Given the description of an element on the screen output the (x, y) to click on. 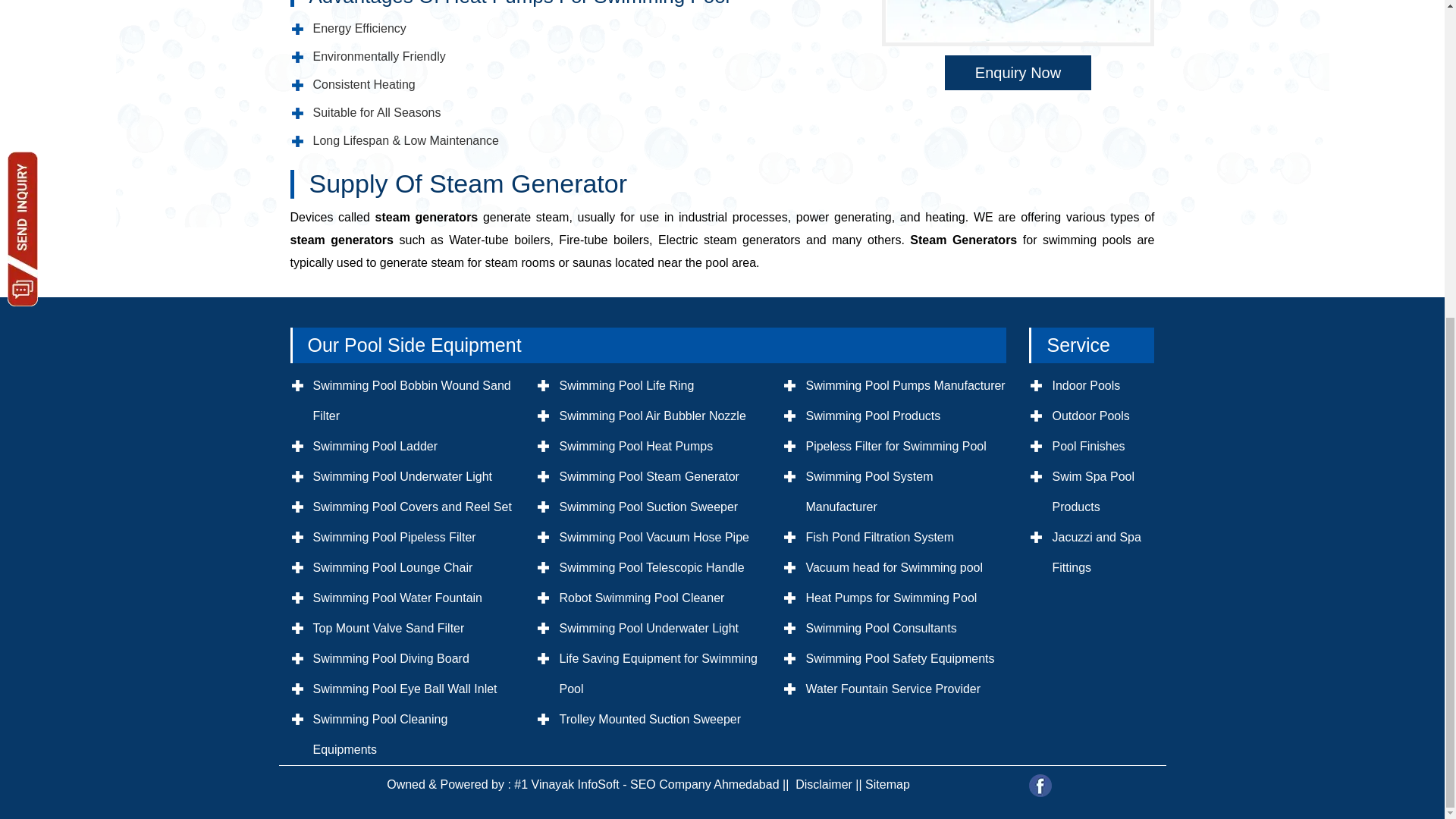
Enquiry Now (1018, 72)
Swimming Pool Underwater Light (402, 476)
Swimming Pool Pipeless Filter (394, 536)
Swimming Pool Bobbin Wound Sand Filter (412, 400)
Swimming Pool Lounge Chair (392, 567)
Swimming Pool Ladder (375, 445)
Swimming Pool Covers and Reel Set (412, 506)
